Given the description of an element on the screen output the (x, y) to click on. 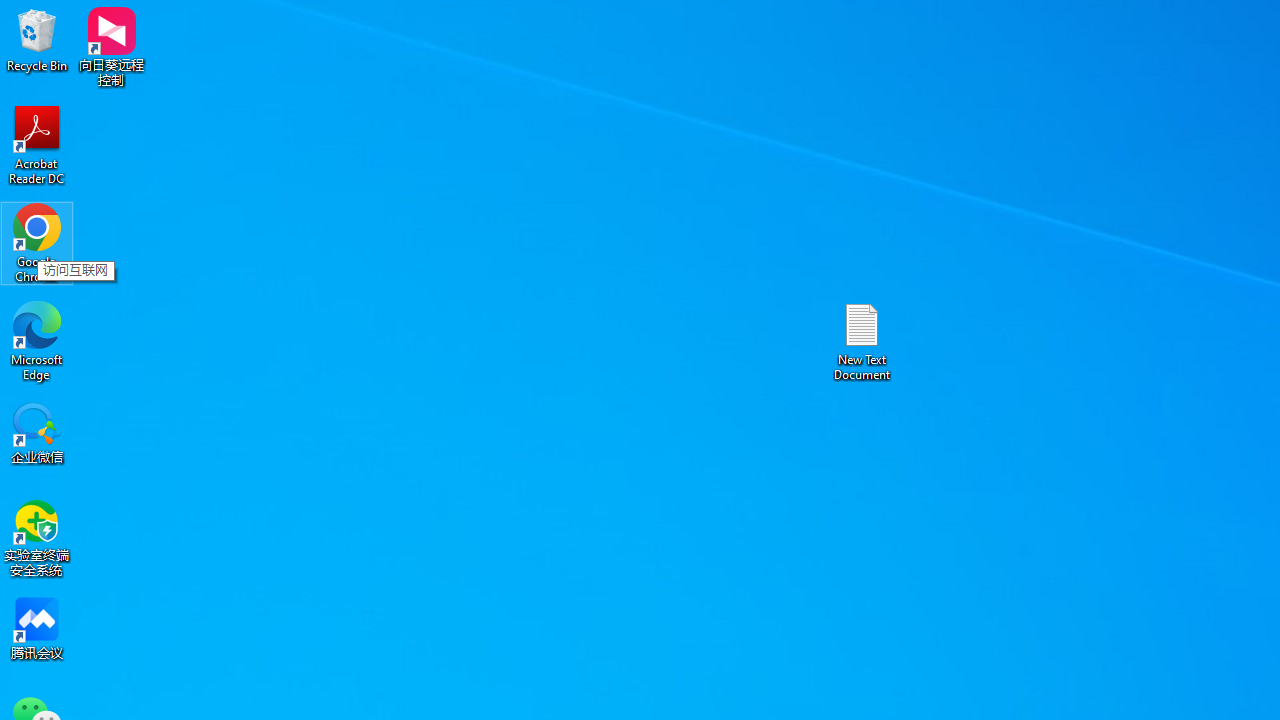
New Text Document (861, 340)
Recycle Bin (37, 39)
Microsoft Edge (37, 340)
Acrobat Reader DC (37, 144)
Google Chrome (37, 242)
